Given the description of an element on the screen output the (x, y) to click on. 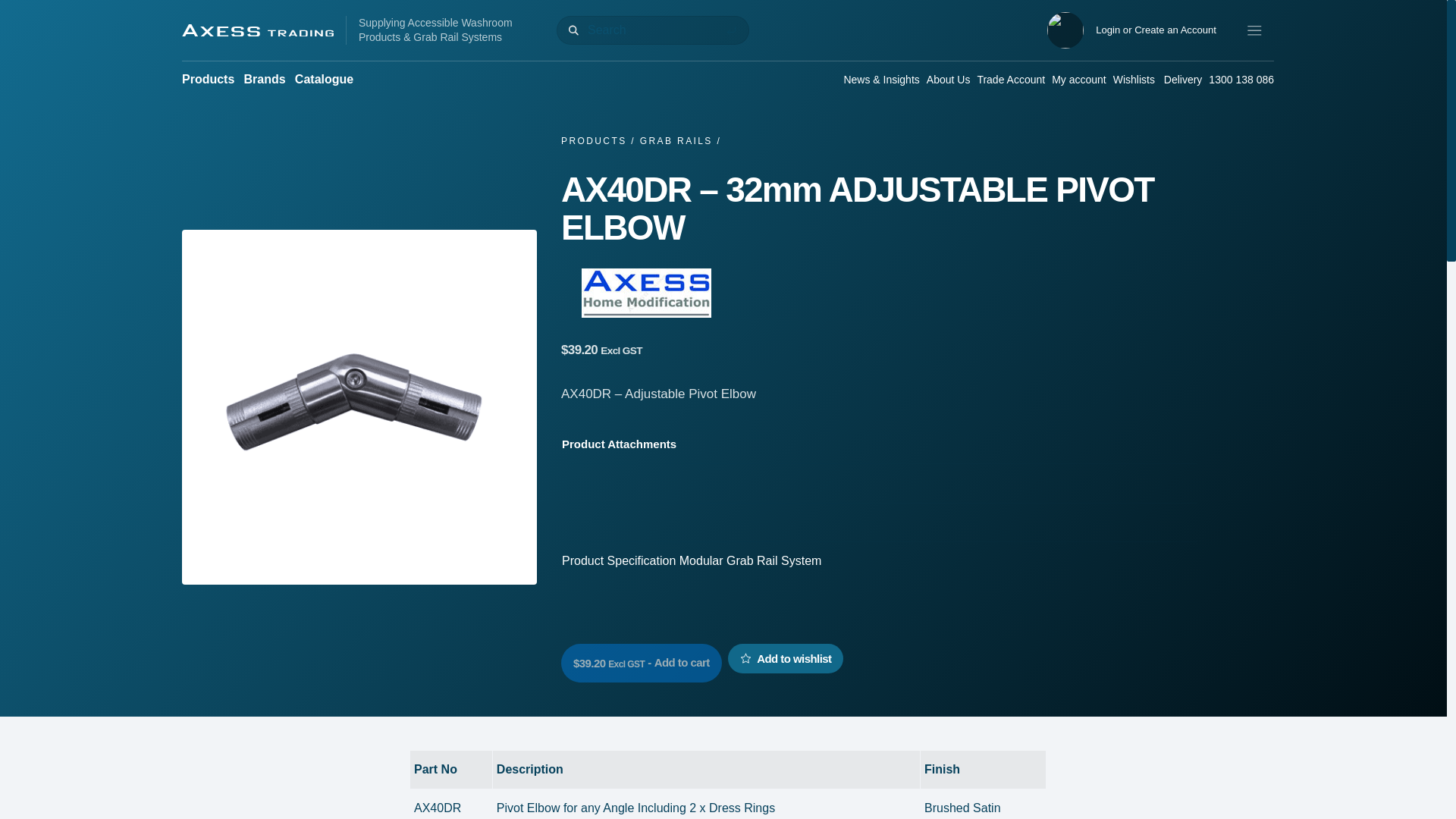
Menu (1254, 30)
Search for: (652, 30)
